Given the description of an element on the screen output the (x, y) to click on. 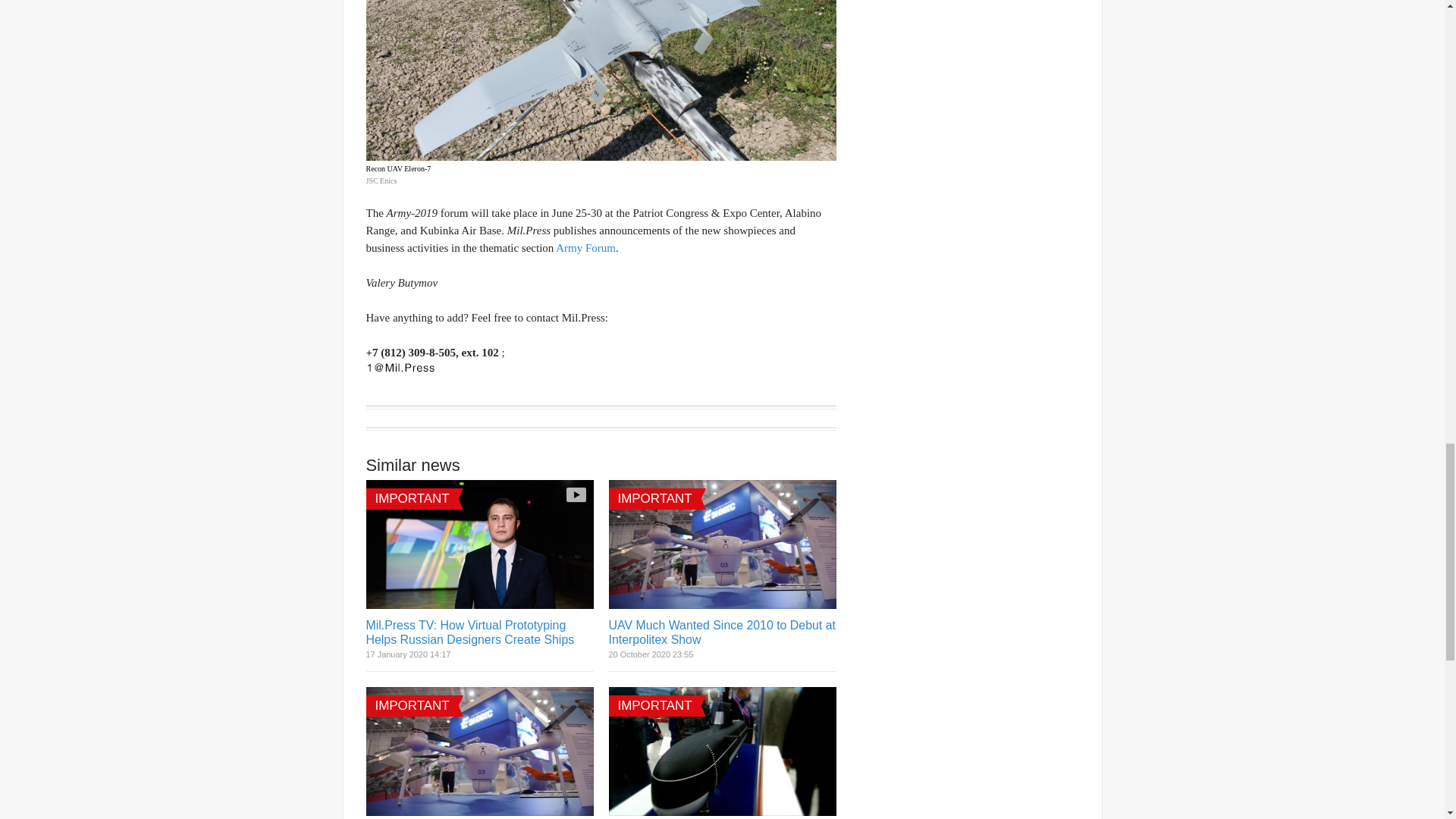
Recon UAV Eleron-7 (600, 80)
